Given the description of an element on the screen output the (x, y) to click on. 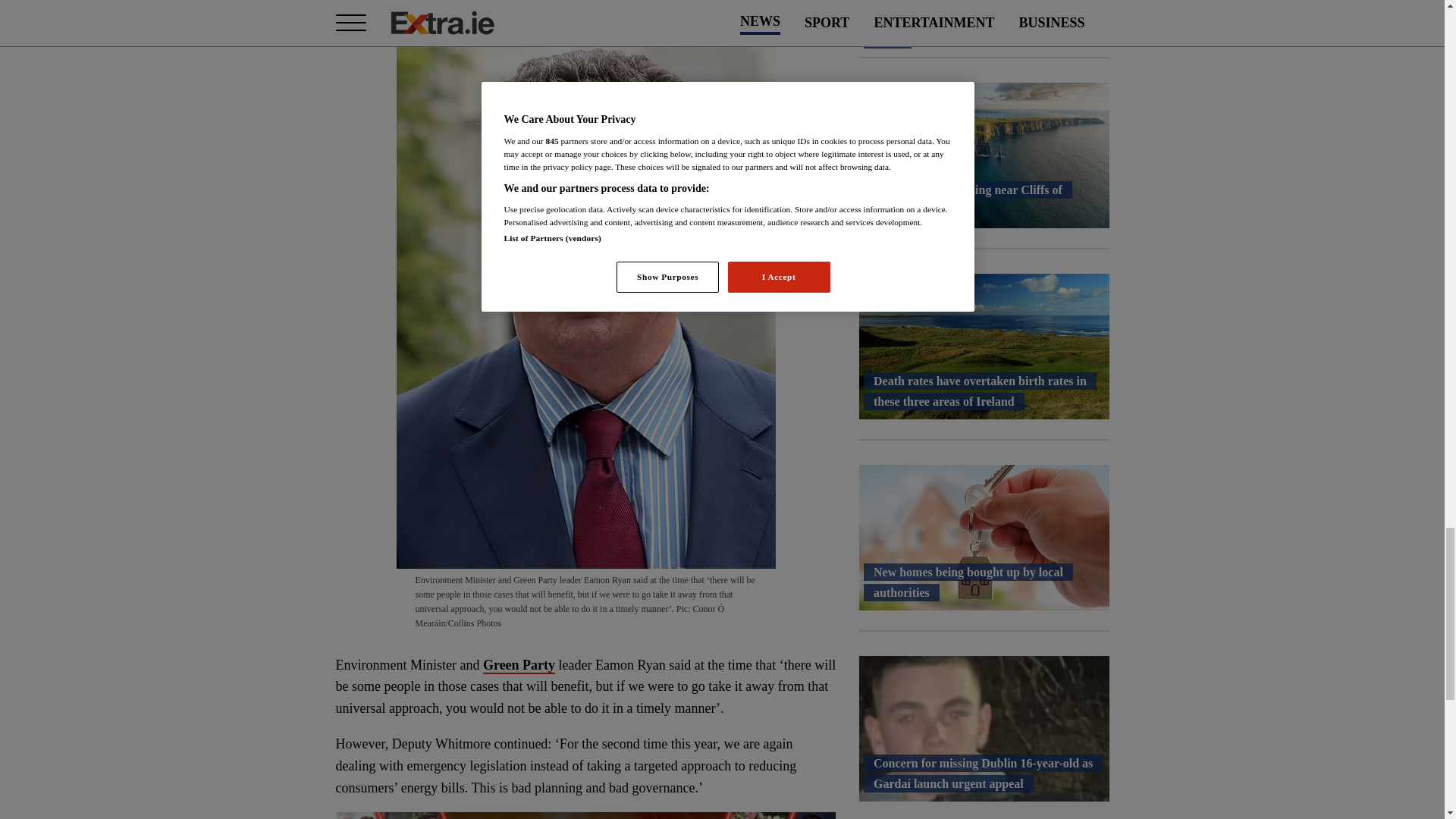
Green Party (518, 665)
